Given the description of an element on the screen output the (x, y) to click on. 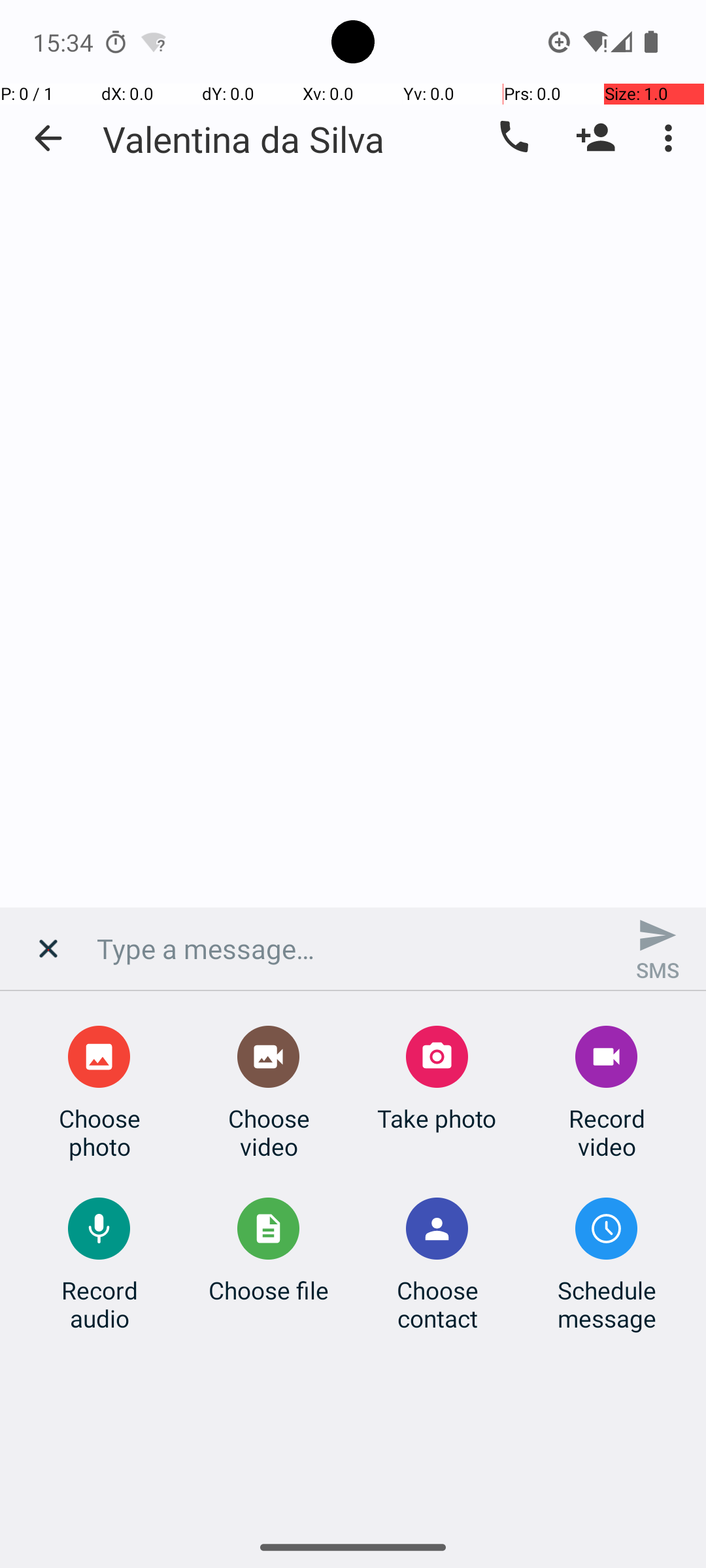
Valentina da Silva Element type: android.widget.TextView (243, 138)
